Given the description of an element on the screen output the (x, y) to click on. 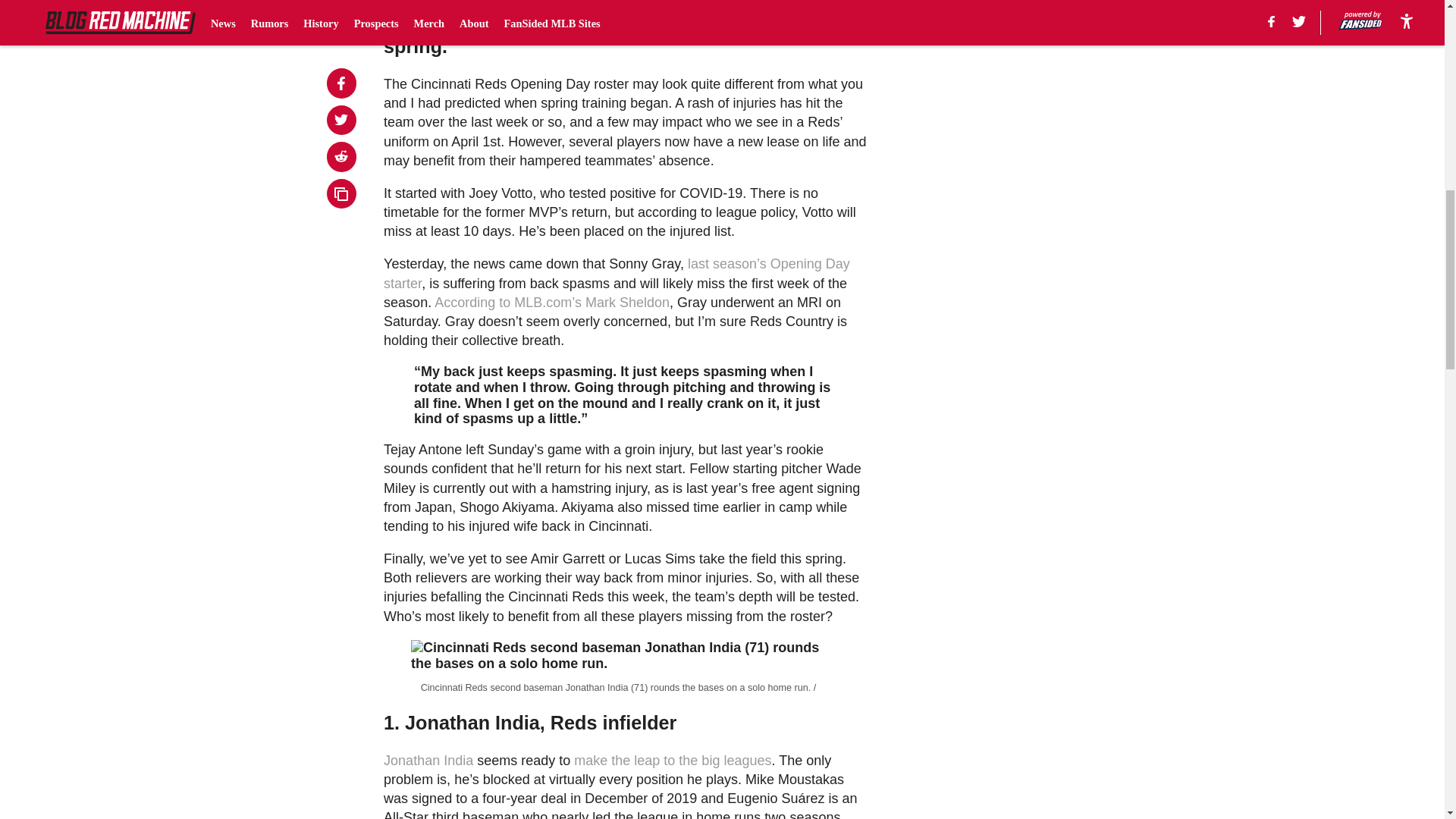
make the leap to the big leagues (672, 760)
Jonathan India (428, 760)
